Given the description of an element on the screen output the (x, y) to click on. 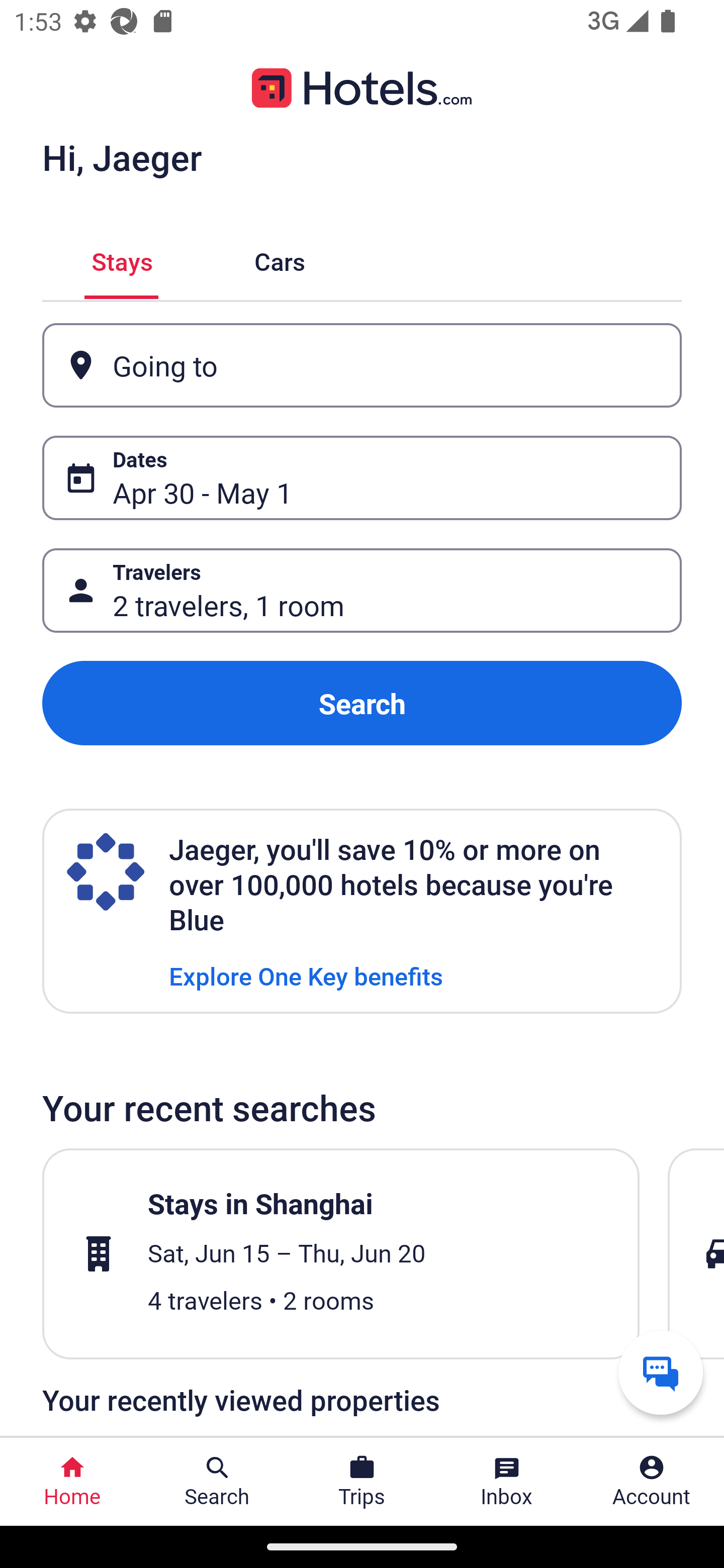
Hi, Jaeger (121, 156)
Cars (279, 259)
Going to Button (361, 365)
Dates Button Apr 30 - May 1 (361, 477)
Travelers Button 2 travelers, 1 room (361, 590)
Search (361, 702)
Get help from a virtual agent (660, 1371)
Search Search Button (216, 1481)
Trips Trips Button (361, 1481)
Inbox Inbox Button (506, 1481)
Account Profile. Button (651, 1481)
